Given the description of an element on the screen output the (x, y) to click on. 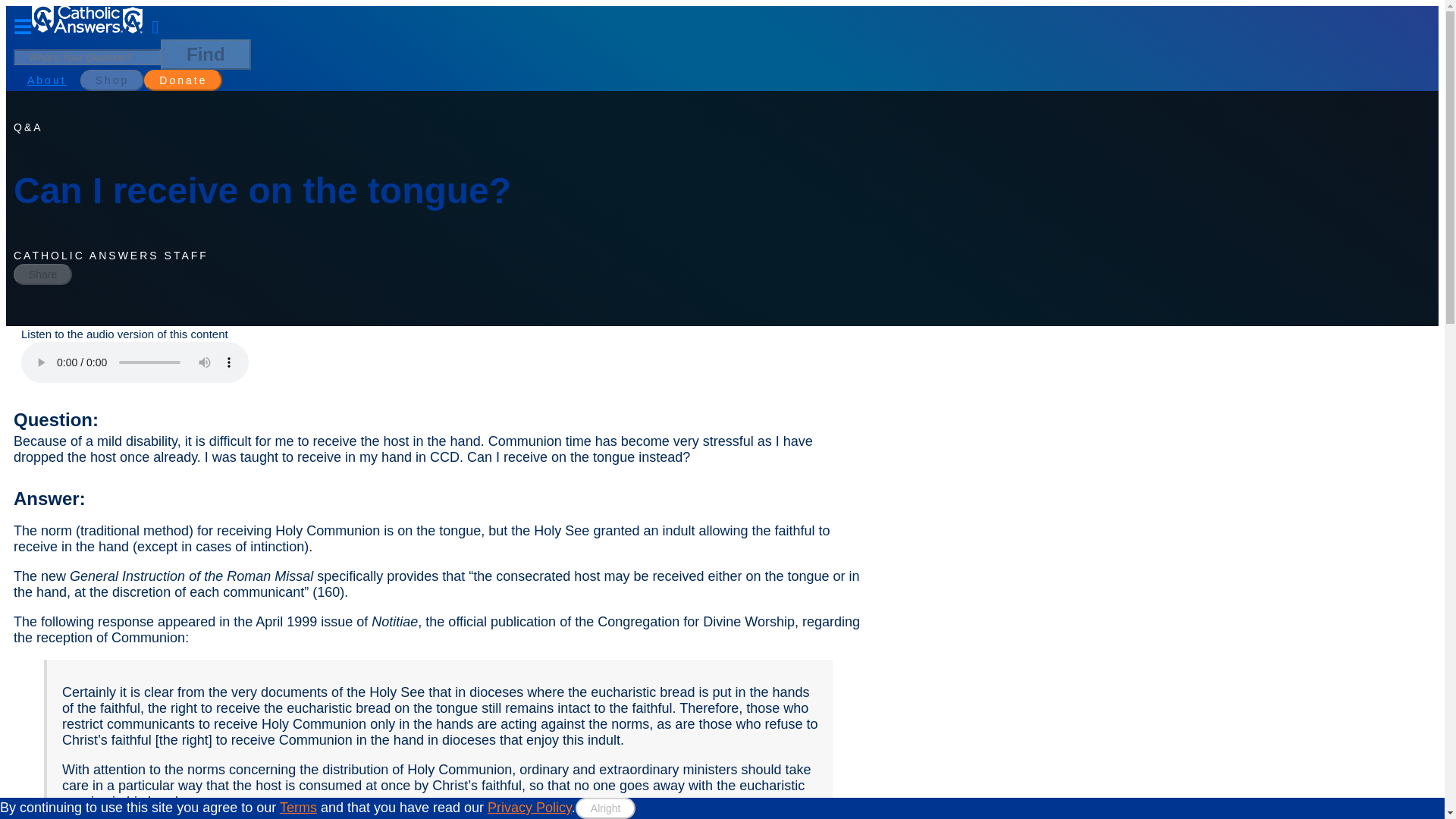
About (46, 80)
Shop (112, 79)
Find (205, 54)
Shop (112, 79)
